Given the description of an element on the screen output the (x, y) to click on. 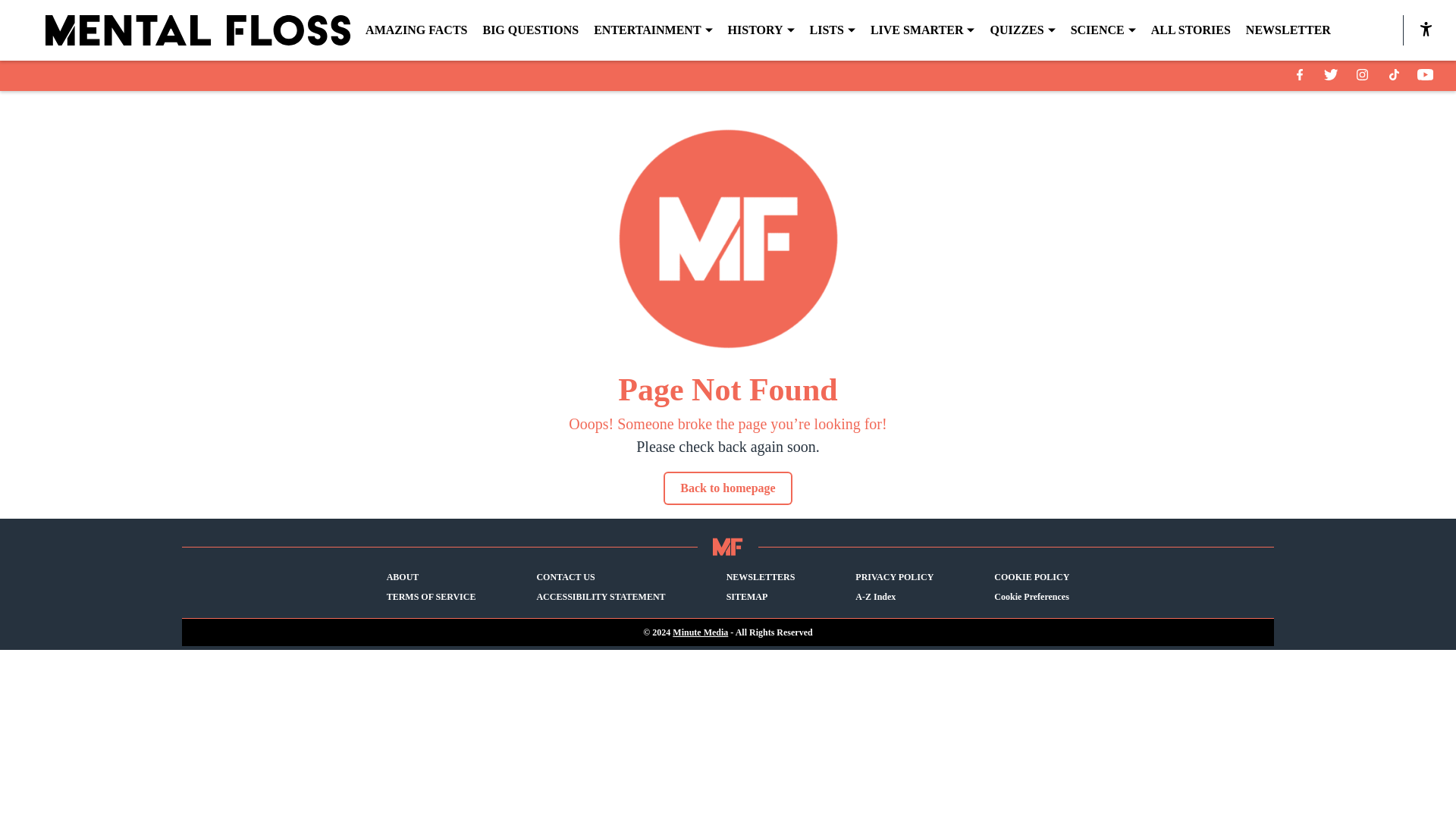
Error image (727, 238)
BIG QUESTIONS (529, 30)
AMAZING FACTS (416, 30)
ALL STORIES (1190, 30)
NEWSLETTER (1288, 30)
